Given the description of an element on the screen output the (x, y) to click on. 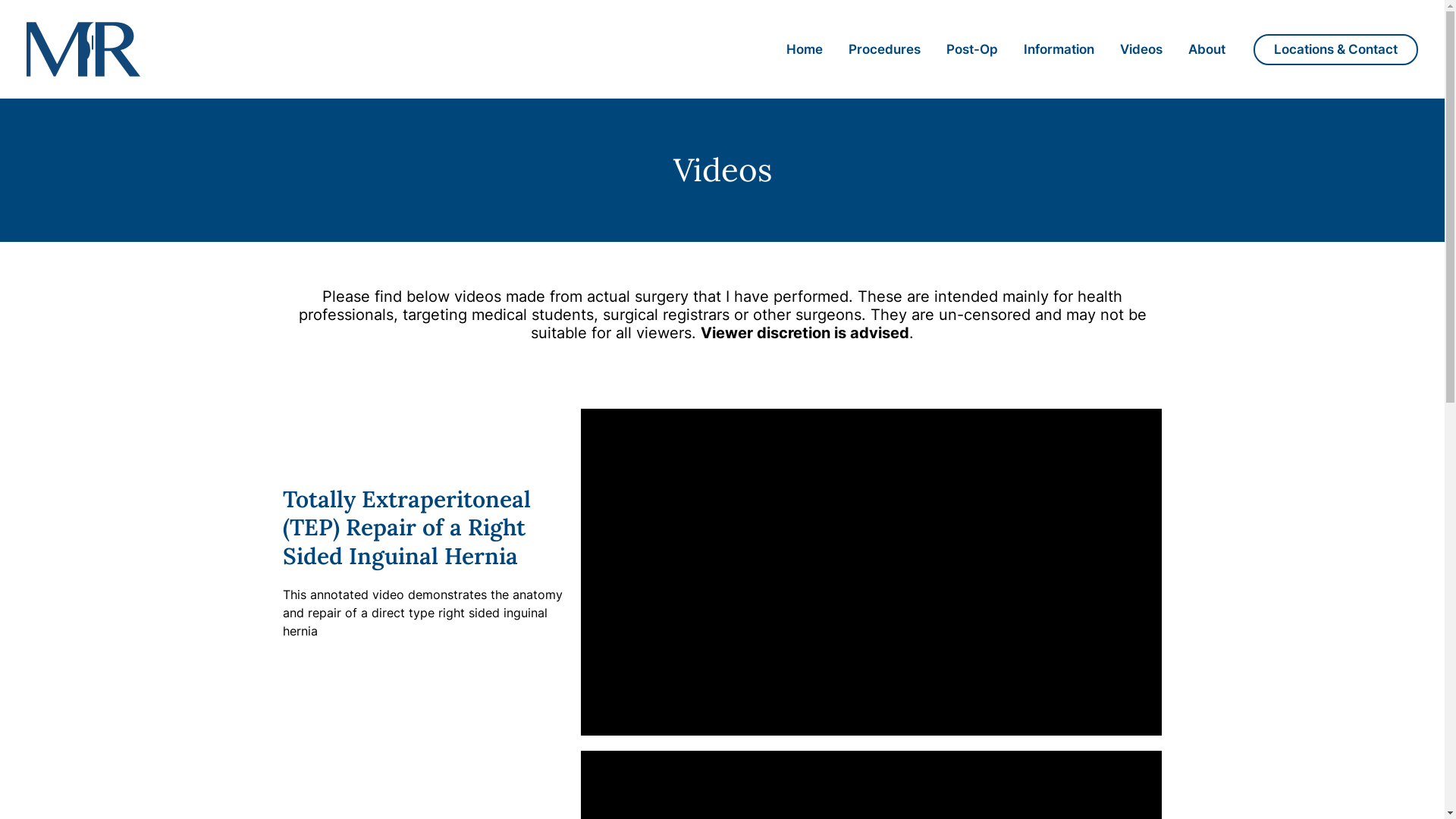
About Element type: text (1206, 49)
vimeo Video Player Element type: hover (871, 571)
Locations & Contact Element type: text (1335, 48)
Information Element type: text (1058, 49)
Procedures Element type: text (884, 49)
Post-Op Element type: text (971, 49)
Home Element type: text (804, 49)
Videos Element type: text (1141, 49)
